Given the description of an element on the screen output the (x, y) to click on. 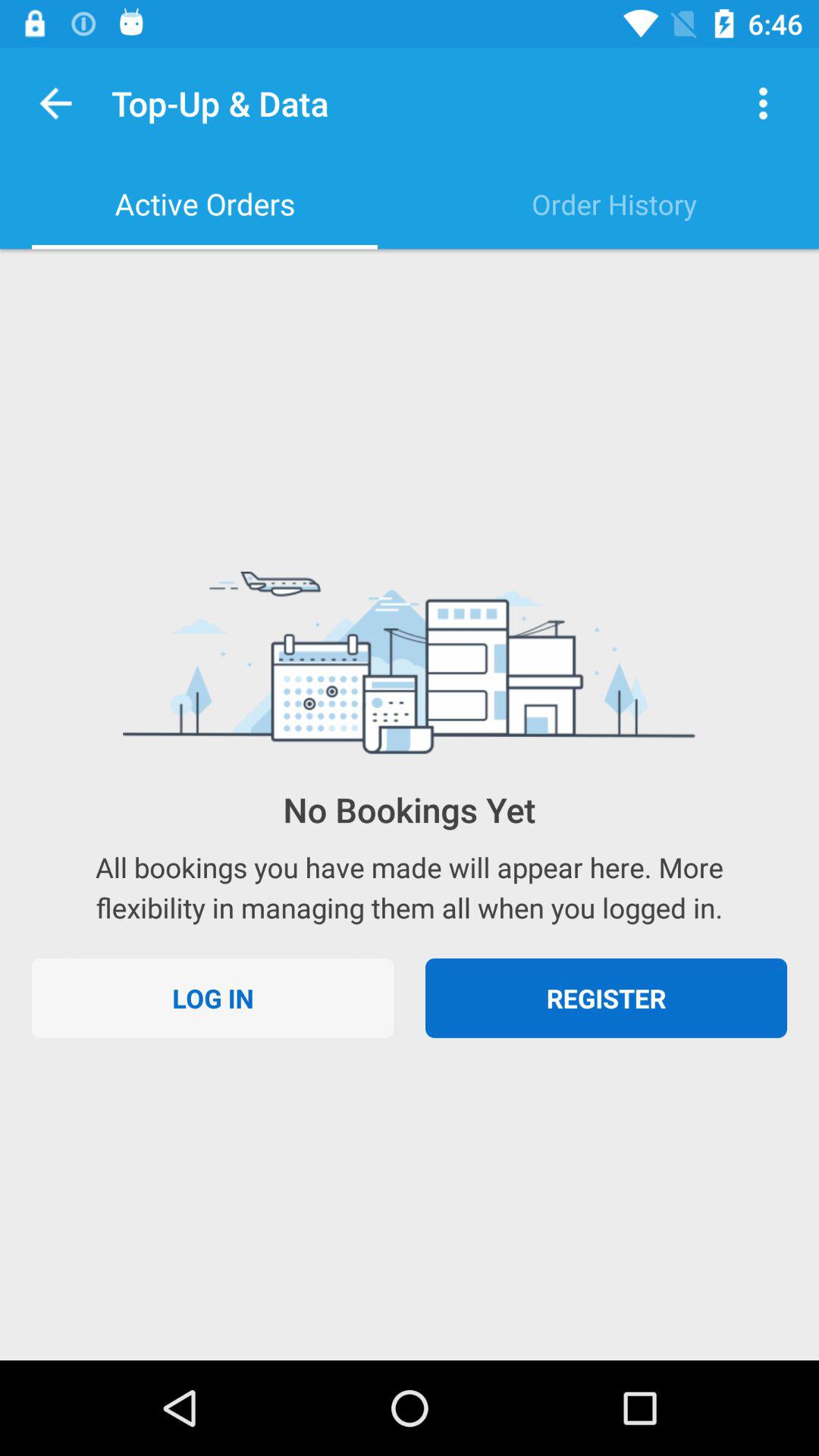
tap the icon to the right of the top-up & data item (763, 103)
